Given the description of an element on the screen output the (x, y) to click on. 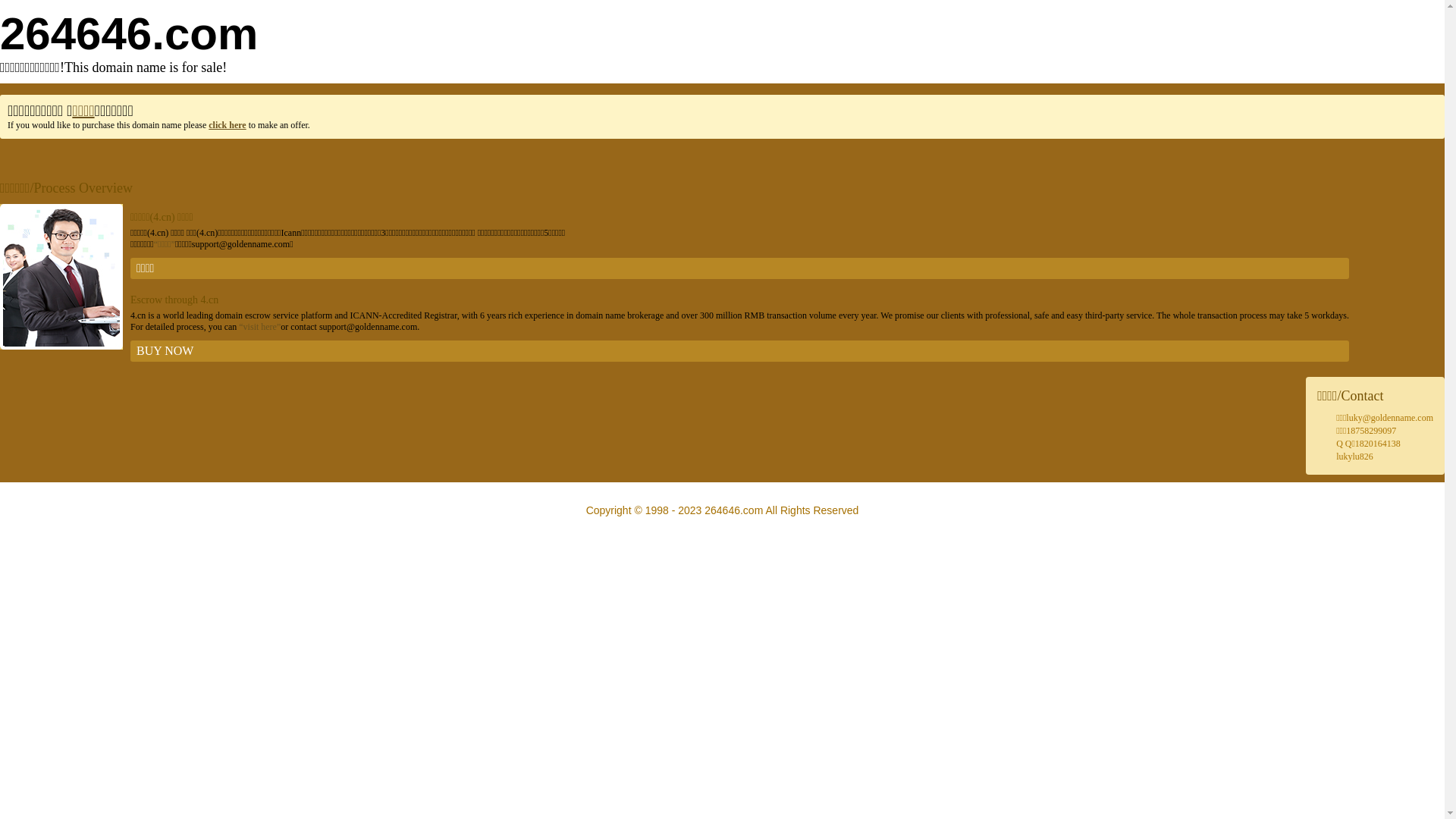
click here Element type: text (226, 124)
BUY NOW Element type: text (739, 350)
